Given the description of an element on the screen output the (x, y) to click on. 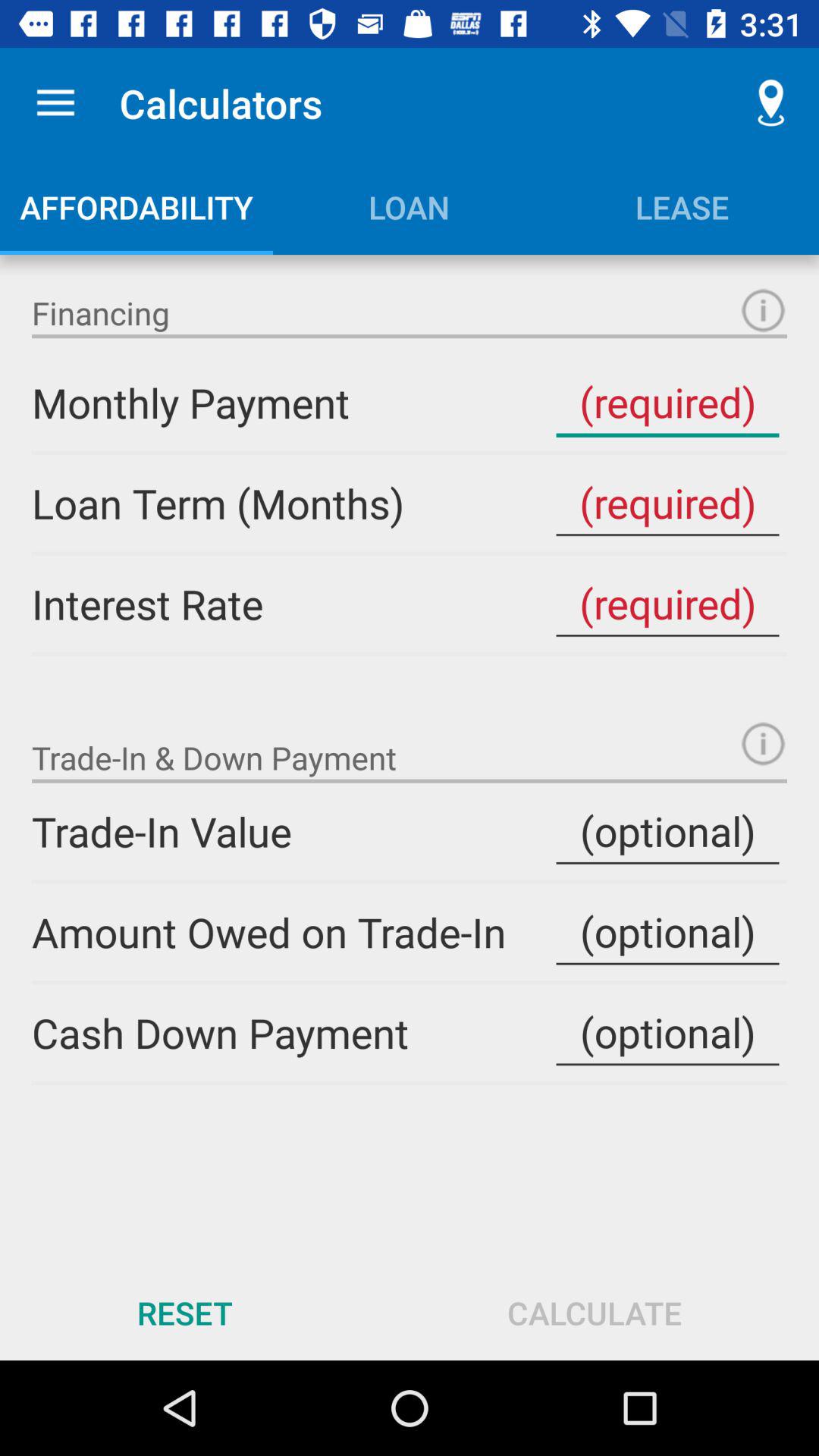
amount owed option (667, 931)
